Given the description of an element on the screen output the (x, y) to click on. 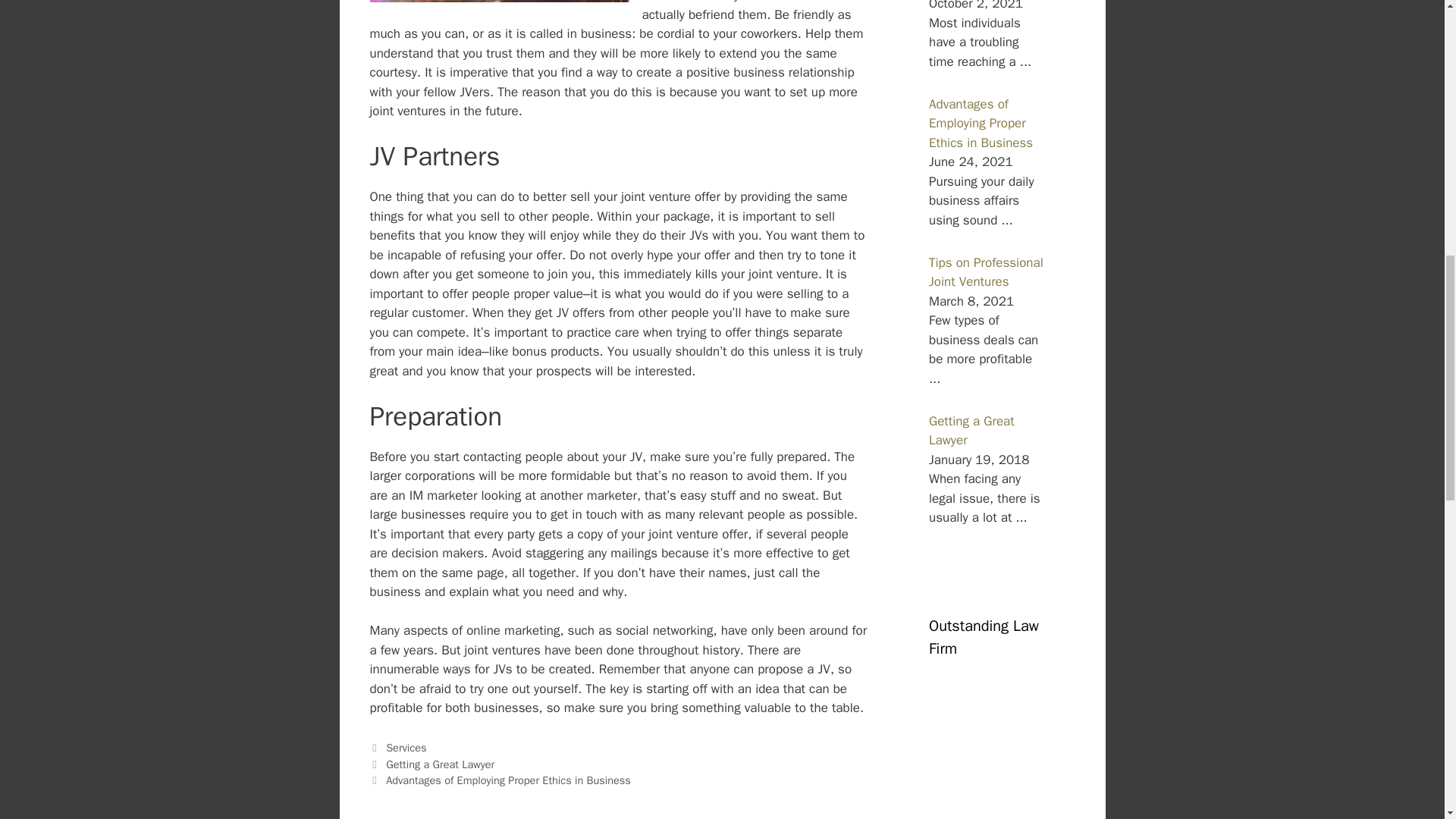
Advantages of Employing Proper Ethics in Business (507, 780)
Getting a Great Lawyer (971, 430)
Advantages of Employing Proper Ethics in Business (980, 123)
Getting a Great Lawyer (440, 764)
Services (405, 747)
Tips on Professional Joint Ventures (985, 272)
